Given the description of an element on the screen output the (x, y) to click on. 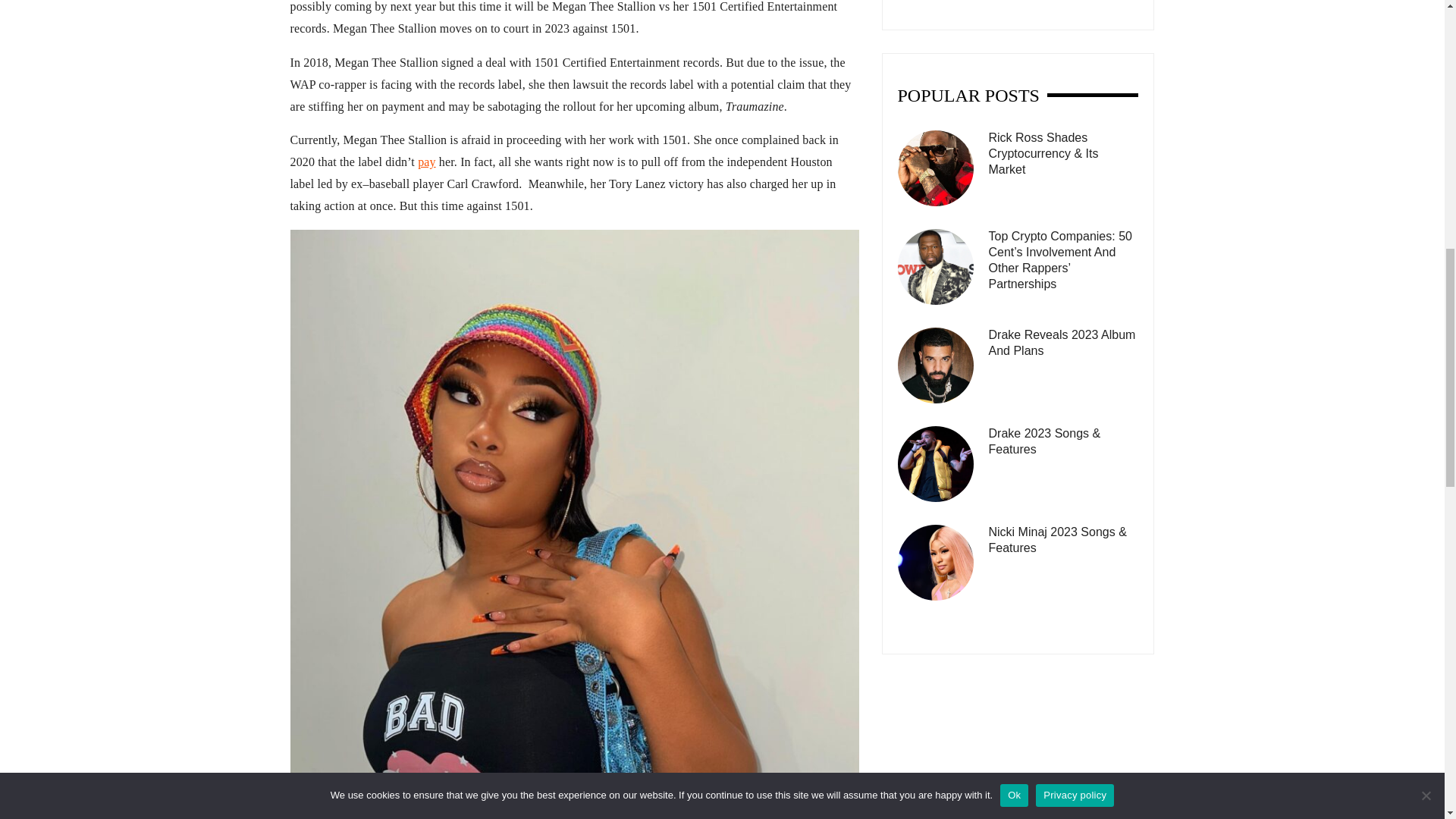
pay (426, 161)
